Given the description of an element on the screen output the (x, y) to click on. 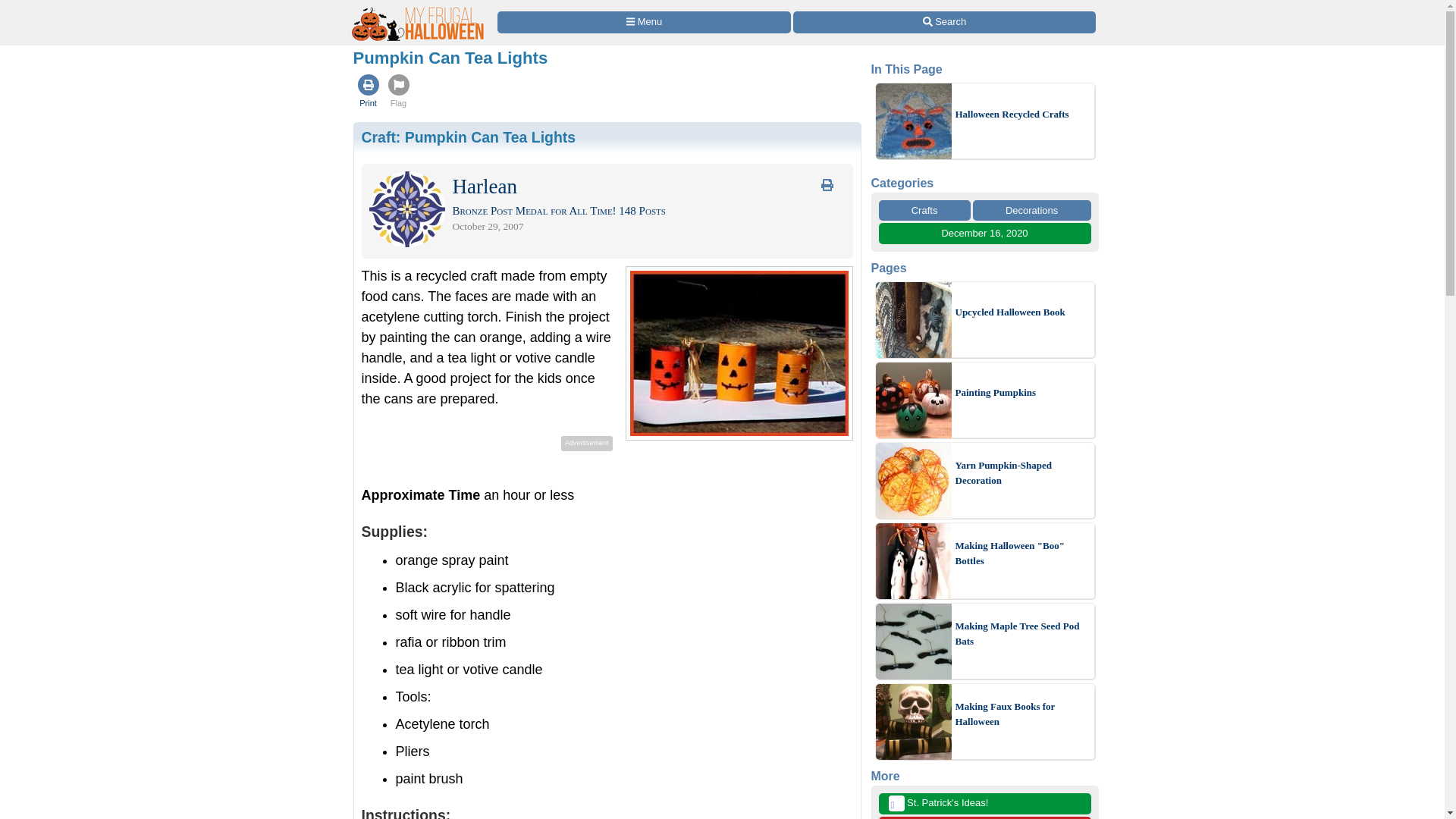
Harlean (483, 189)
Craft: Pumpkin Can Tea Lights (468, 136)
